Given the description of an element on the screen output the (x, y) to click on. 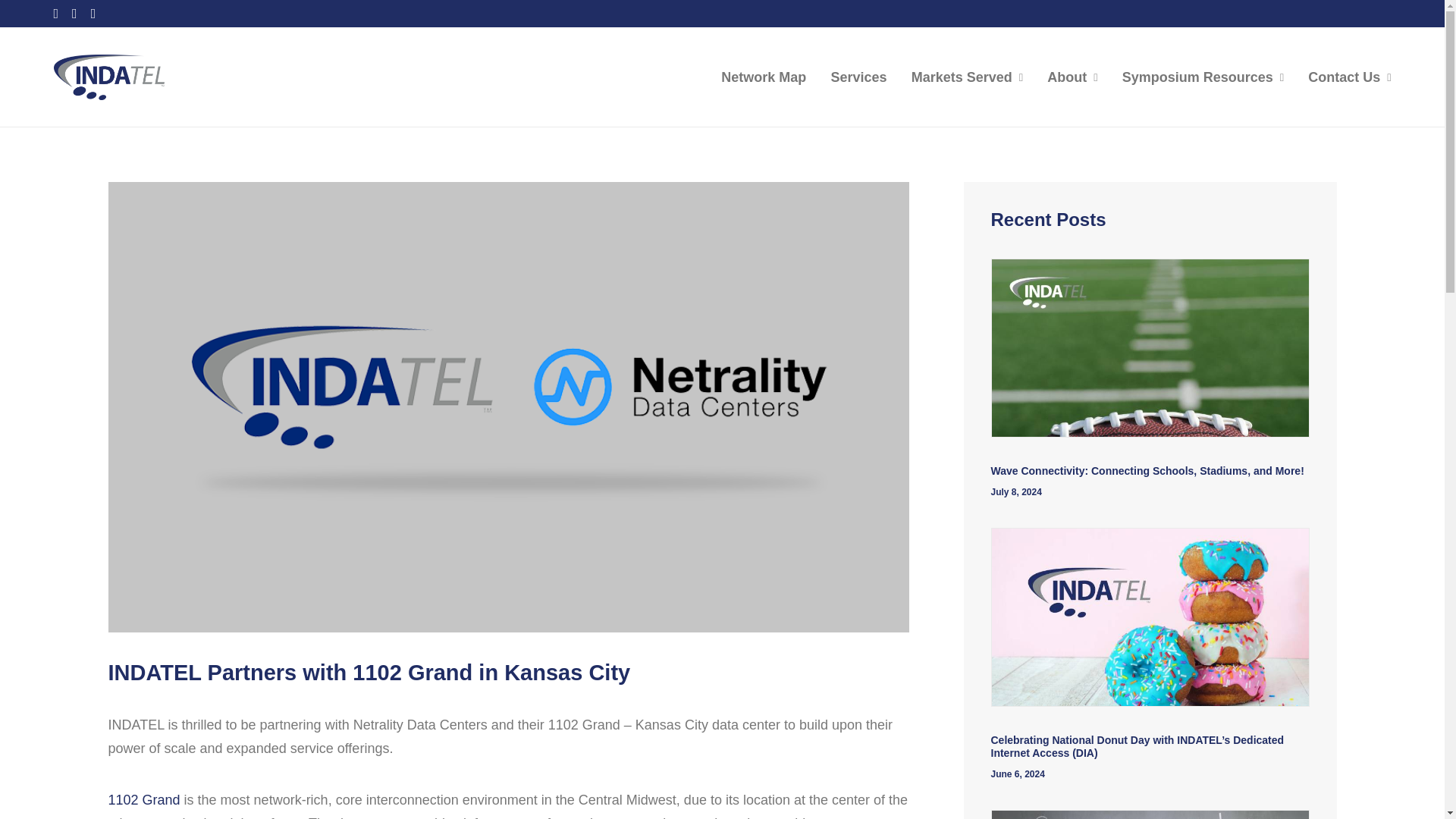
Wave Connectivity: Connecting Schools, Stadiums, and More! (1146, 470)
Markets Served (967, 77)
Symposium Resources (1203, 77)
Network Map (768, 77)
Contact Us (1343, 77)
1102 Grand (143, 799)
Network Map (768, 77)
Markets Served (967, 77)
